Given the description of an element on the screen output the (x, y) to click on. 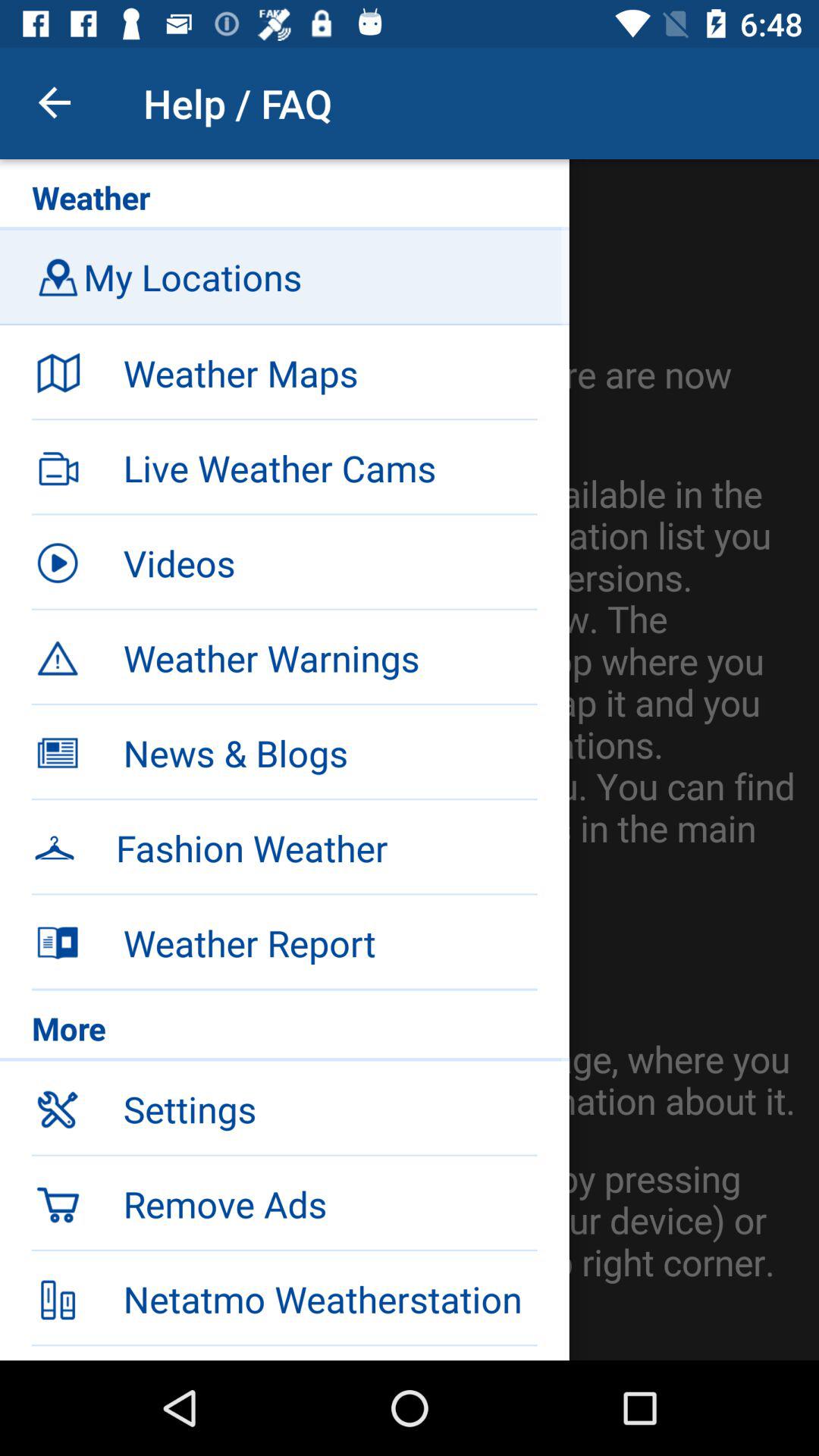
tap the item below news & blogs icon (284, 845)
